Given the description of an element on the screen output the (x, y) to click on. 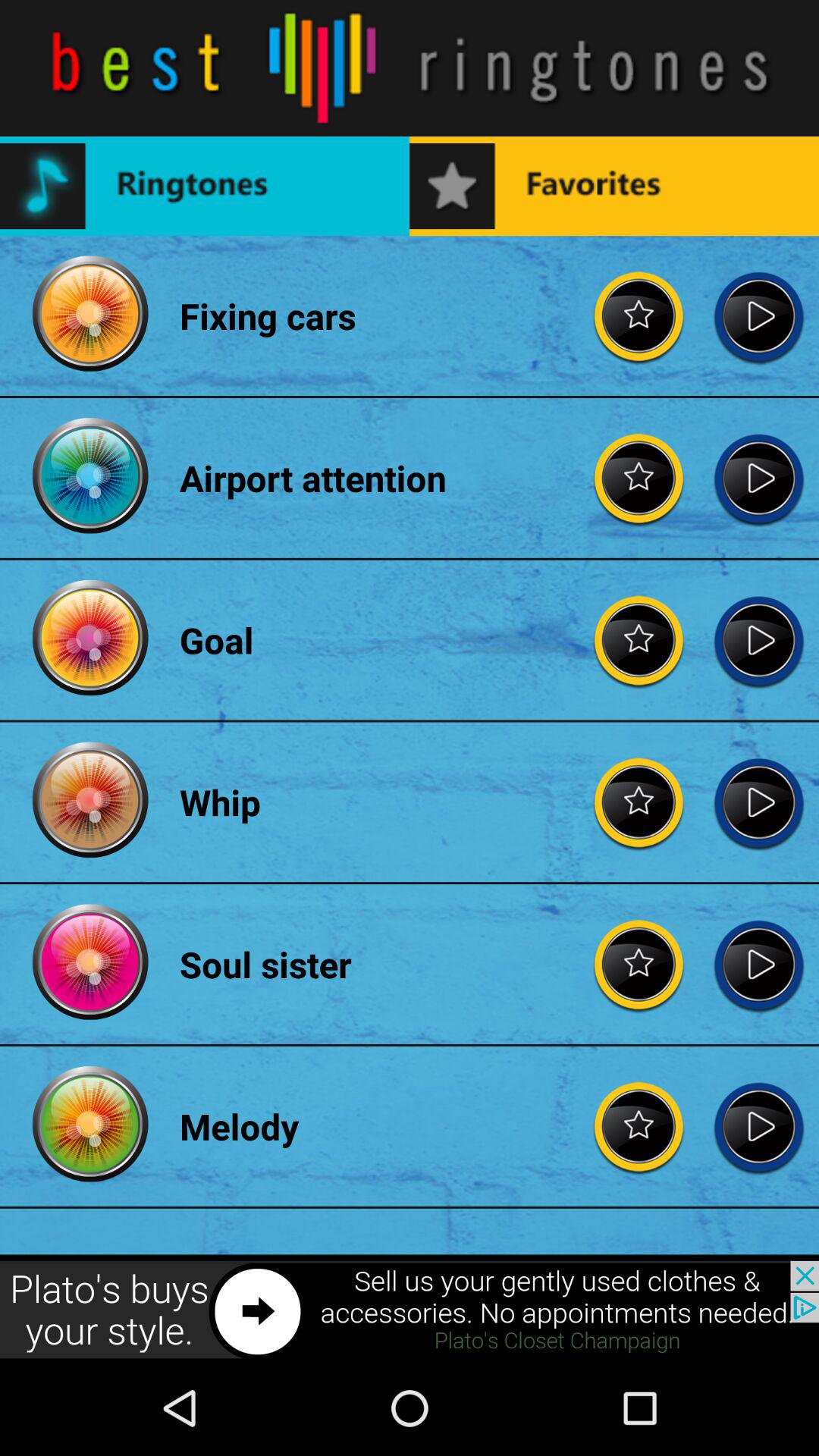
go back (758, 477)
